Given the description of an element on the screen output the (x, y) to click on. 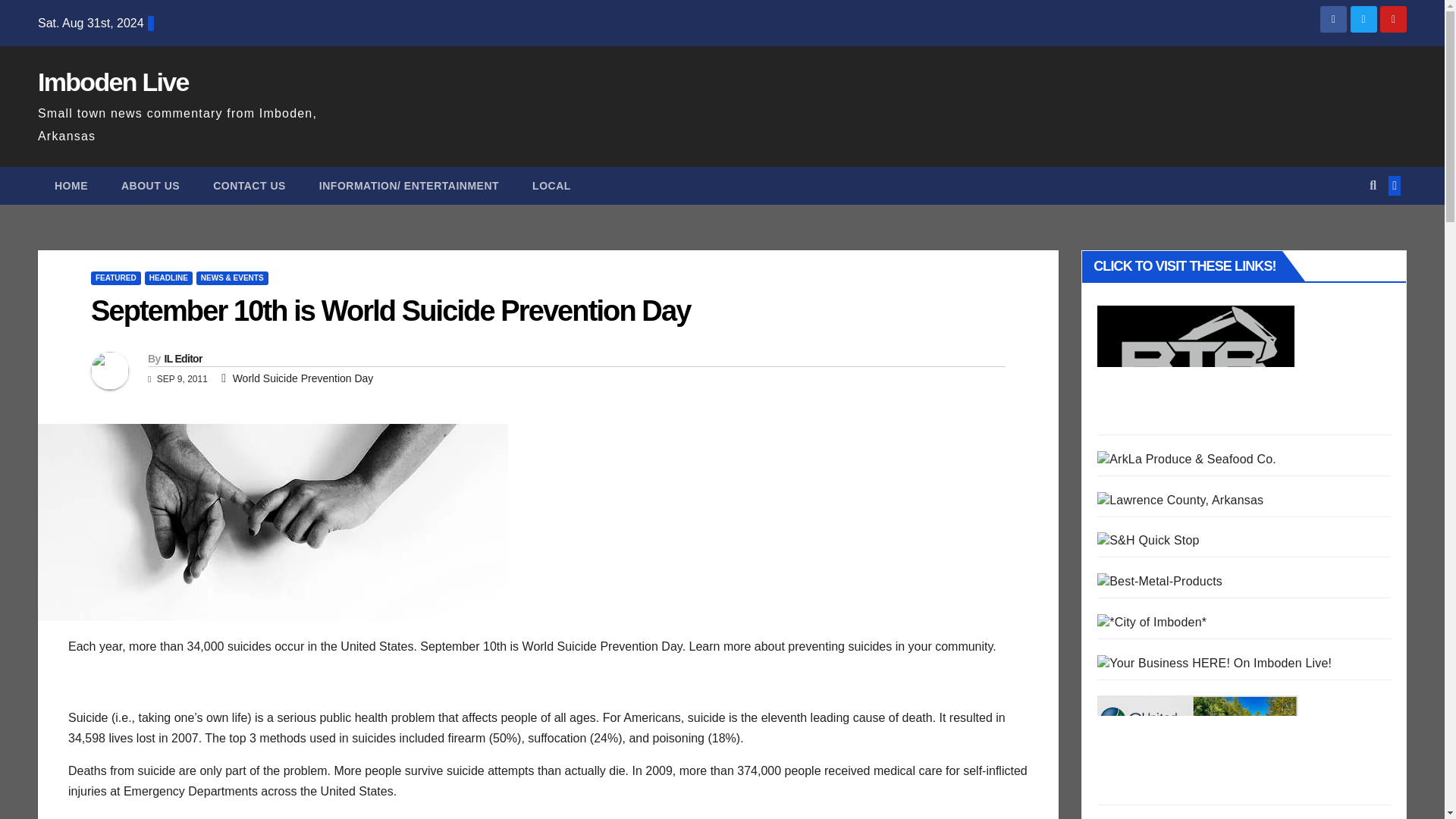
HOME (70, 185)
advertise local! (1214, 662)
Home (70, 185)
LOCAL (551, 185)
Imboden Live (113, 81)
advertise local! (1214, 663)
ABOUT US (150, 185)
Permalink to: September 10th is World Suicide Prevention Day (390, 310)
official city of imboden arkansas website (1152, 622)
CONTACT US (249, 185)
